Given the description of an element on the screen output the (x, y) to click on. 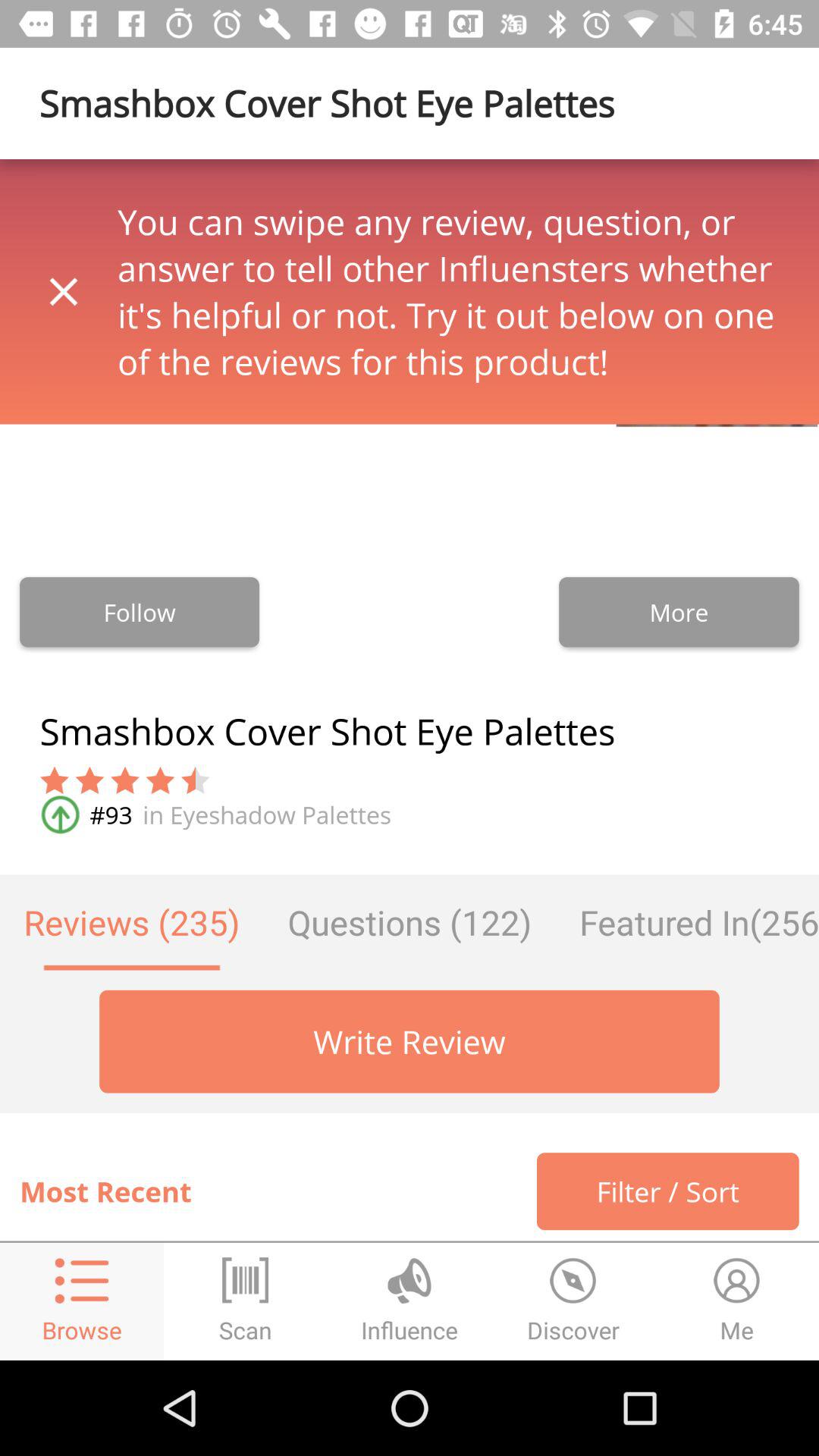
click on more (678, 611)
click the follow button on the web page (139, 611)
click the influence button on the web page (409, 1301)
